Given the description of an element on the screen output the (x, y) to click on. 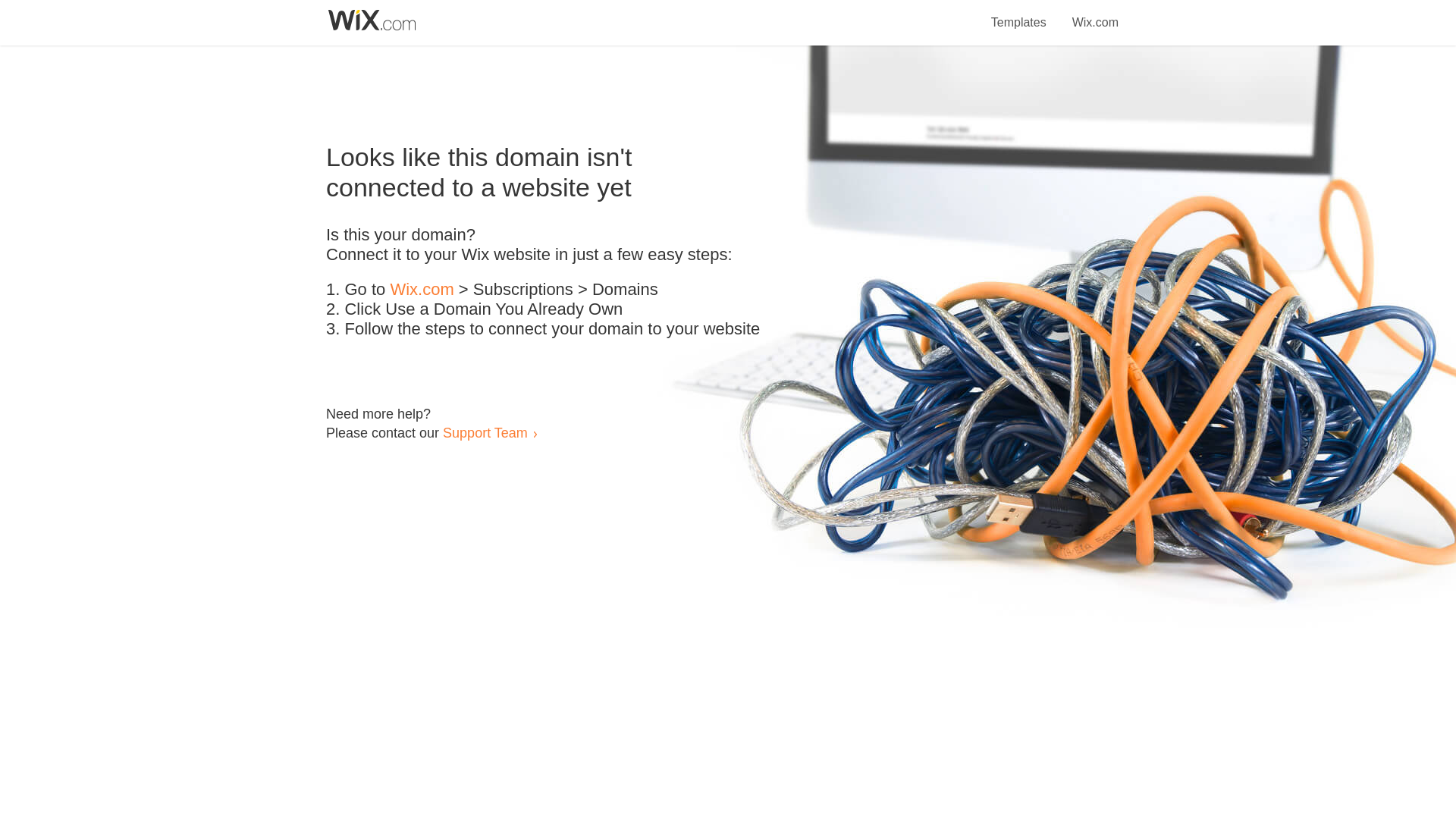
Support Team (484, 432)
Templates (1018, 14)
Wix.com (1095, 14)
Wix.com (421, 289)
